Given the description of an element on the screen output the (x, y) to click on. 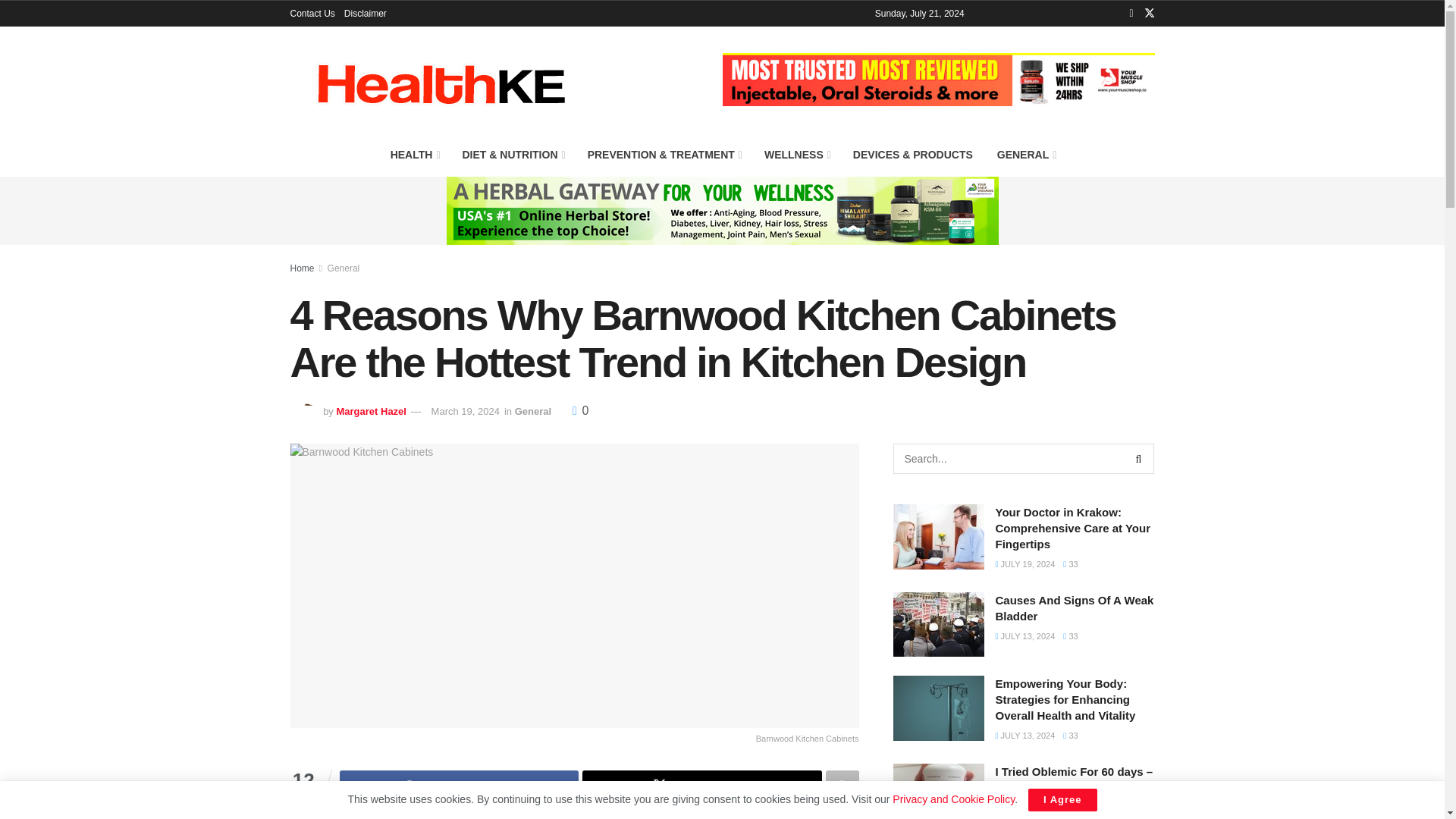
Disclaimer (365, 13)
GENERAL (1026, 154)
Contact Us (311, 13)
HEALTH (413, 154)
WELLNESS (796, 154)
